Given the description of an element on the screen output the (x, y) to click on. 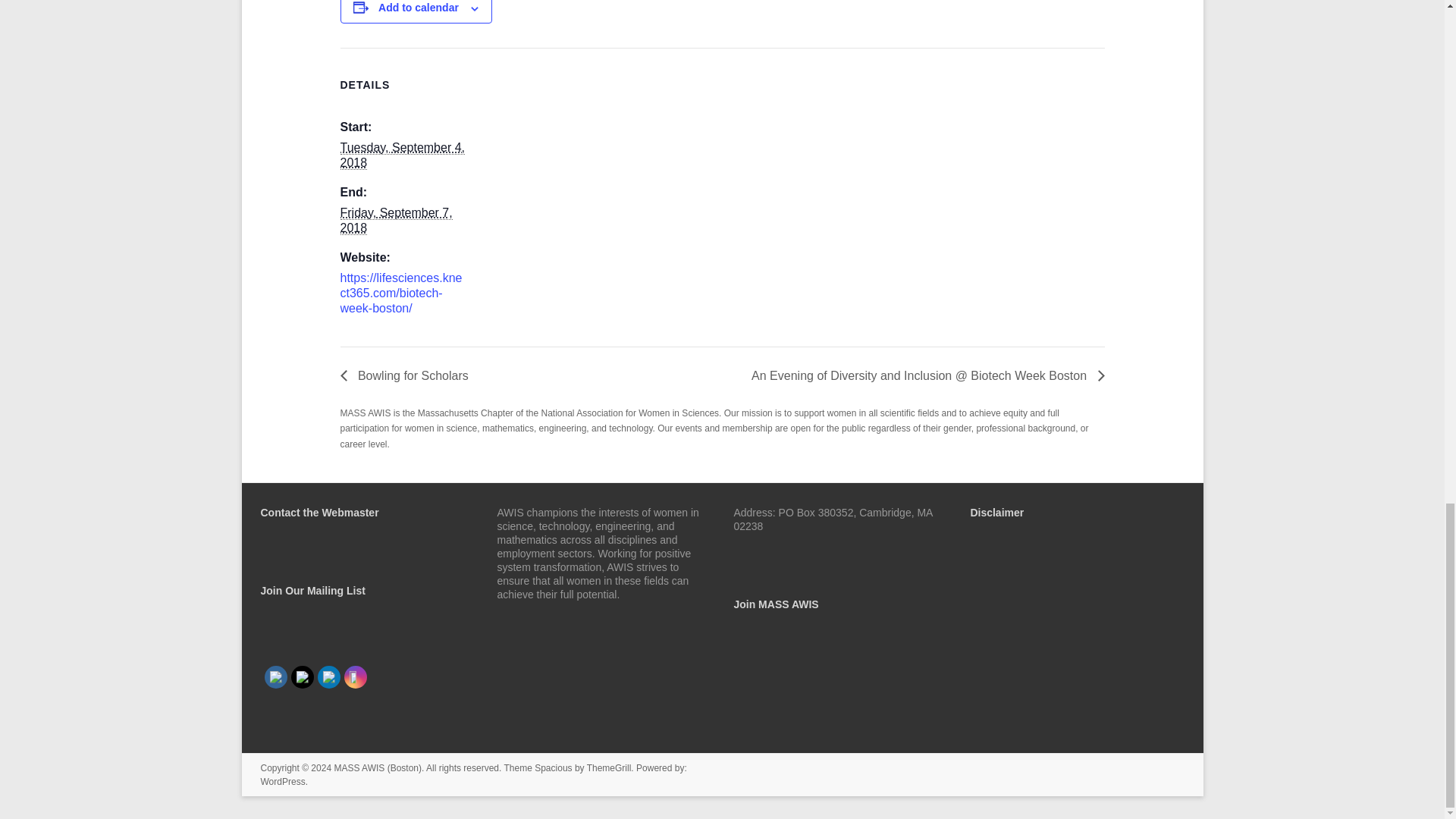
LinkedIn (327, 676)
2018-09-04 (401, 154)
Facebook (275, 676)
Spacious (553, 767)
2018-09-08 (395, 220)
Twitter (301, 676)
WordPress (282, 781)
